Given the description of an element on the screen output the (x, y) to click on. 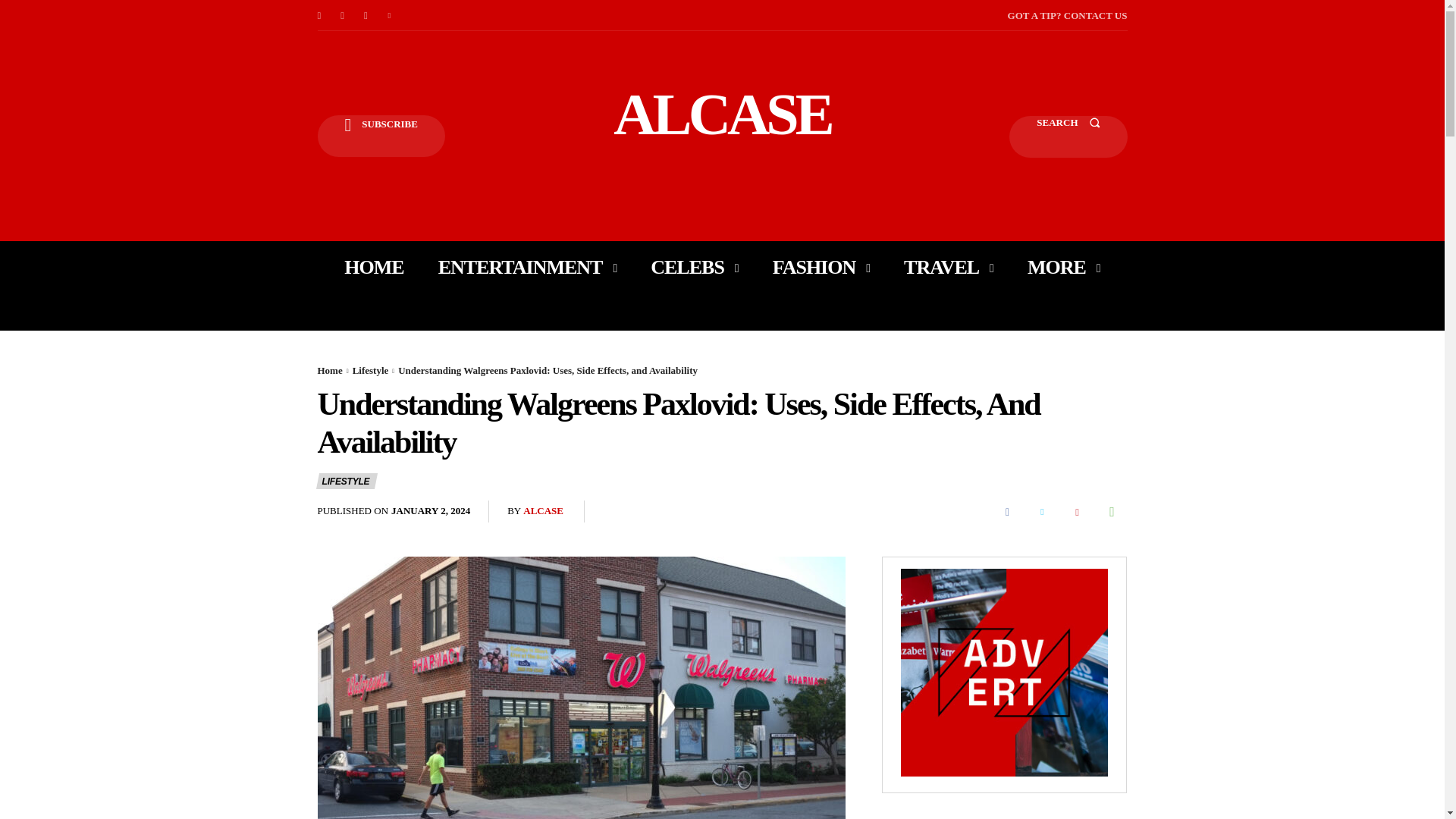
Instagram (342, 15)
Facebook (318, 15)
ALCASE (722, 113)
SEARCH (1067, 137)
SUBSCRIBE (380, 136)
GOT A TIP? CONTACT US (1066, 15)
TikTok (366, 15)
Twitter (389, 15)
